Given the description of an element on the screen output the (x, y) to click on. 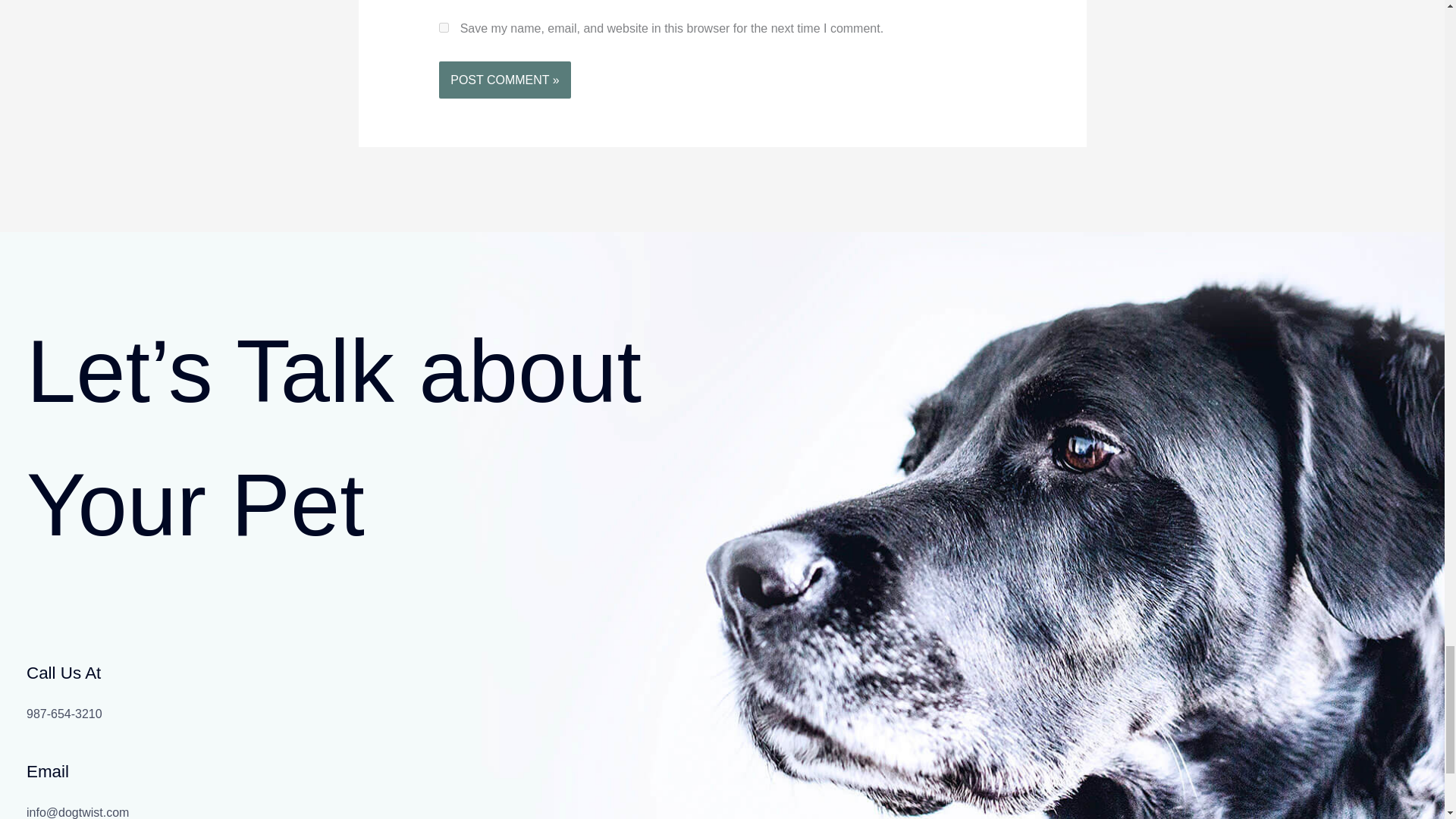
yes (443, 27)
